Given the description of an element on the screen output the (x, y) to click on. 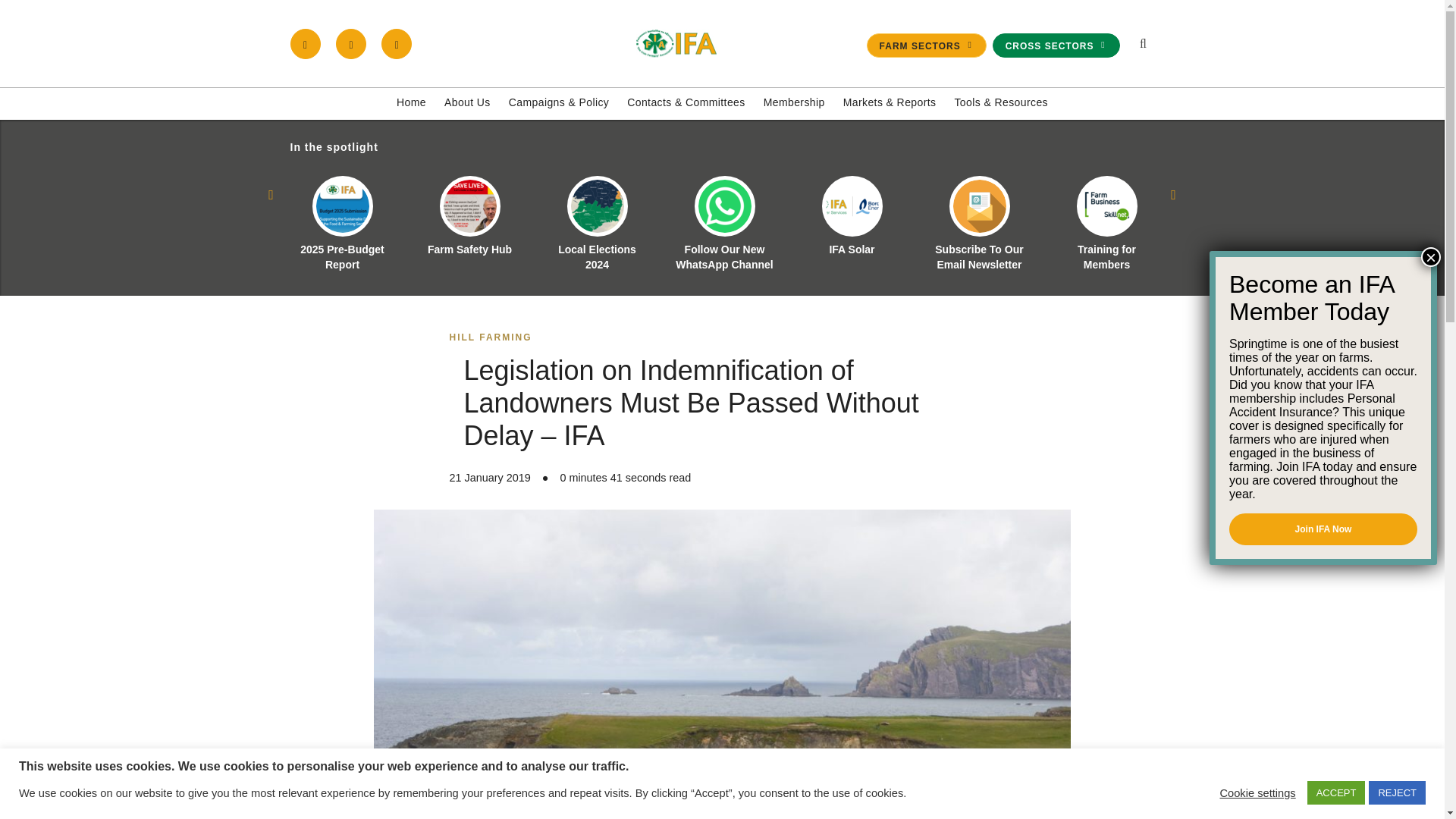
Follow IFA on Facebook (304, 43)
Follow IFA on Twitter (351, 43)
CROSS SECTORS (1055, 45)
Home (411, 103)
FARM SECTORS (926, 45)
About Us (467, 103)
Search (1070, 210)
Get the official IFA App (396, 43)
